Given the description of an element on the screen output the (x, y) to click on. 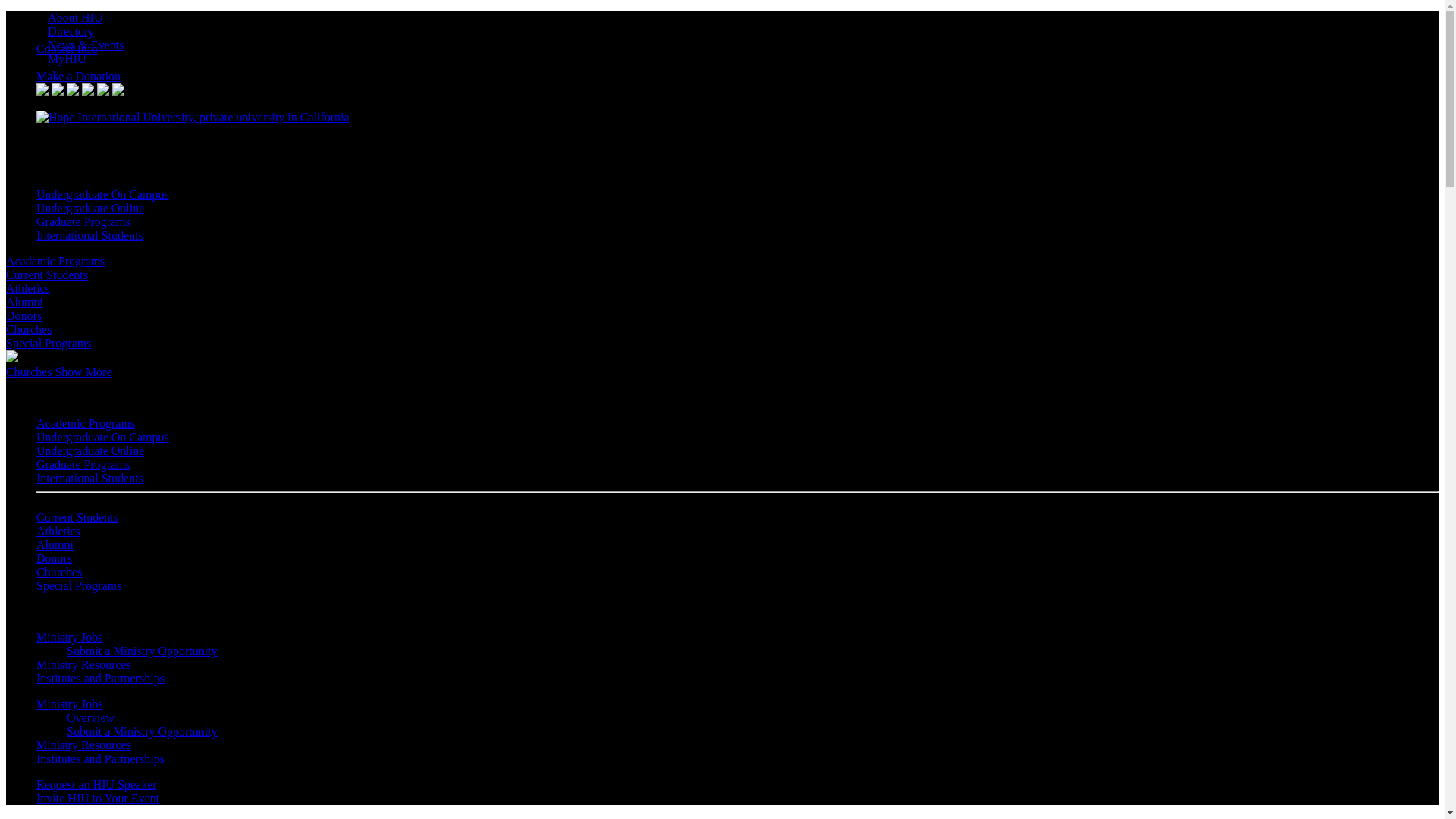
Churches (43, 358)
Donors (23, 315)
International Students (89, 235)
Athletics (58, 530)
Current Students (76, 517)
About HIU (74, 17)
Alumni (55, 544)
Alumni (24, 301)
Undergraduate On Campus (102, 194)
Graduate Programs (83, 463)
